Given the description of an element on the screen output the (x, y) to click on. 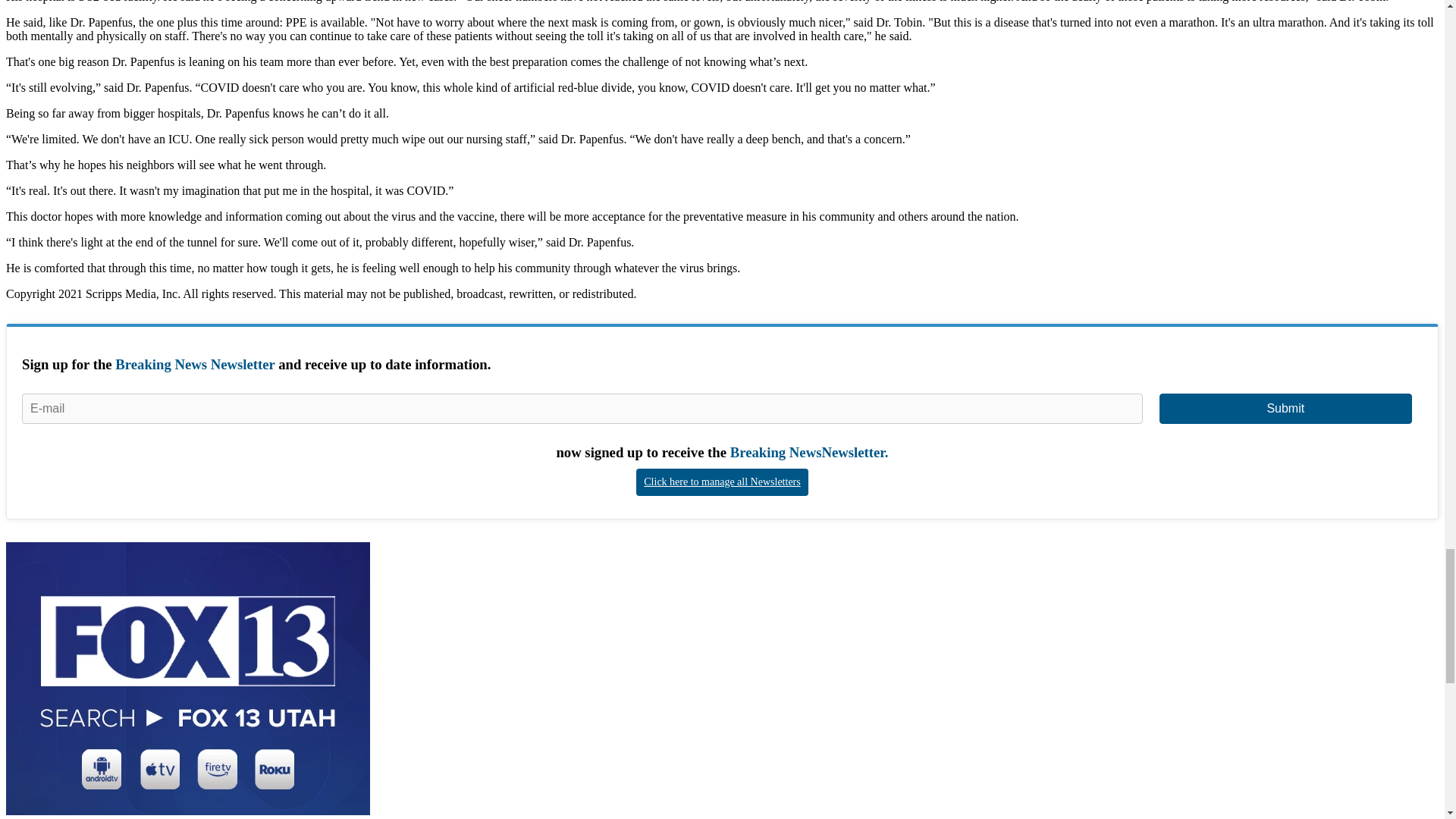
Submit (1284, 408)
